Given the description of an element on the screen output the (x, y) to click on. 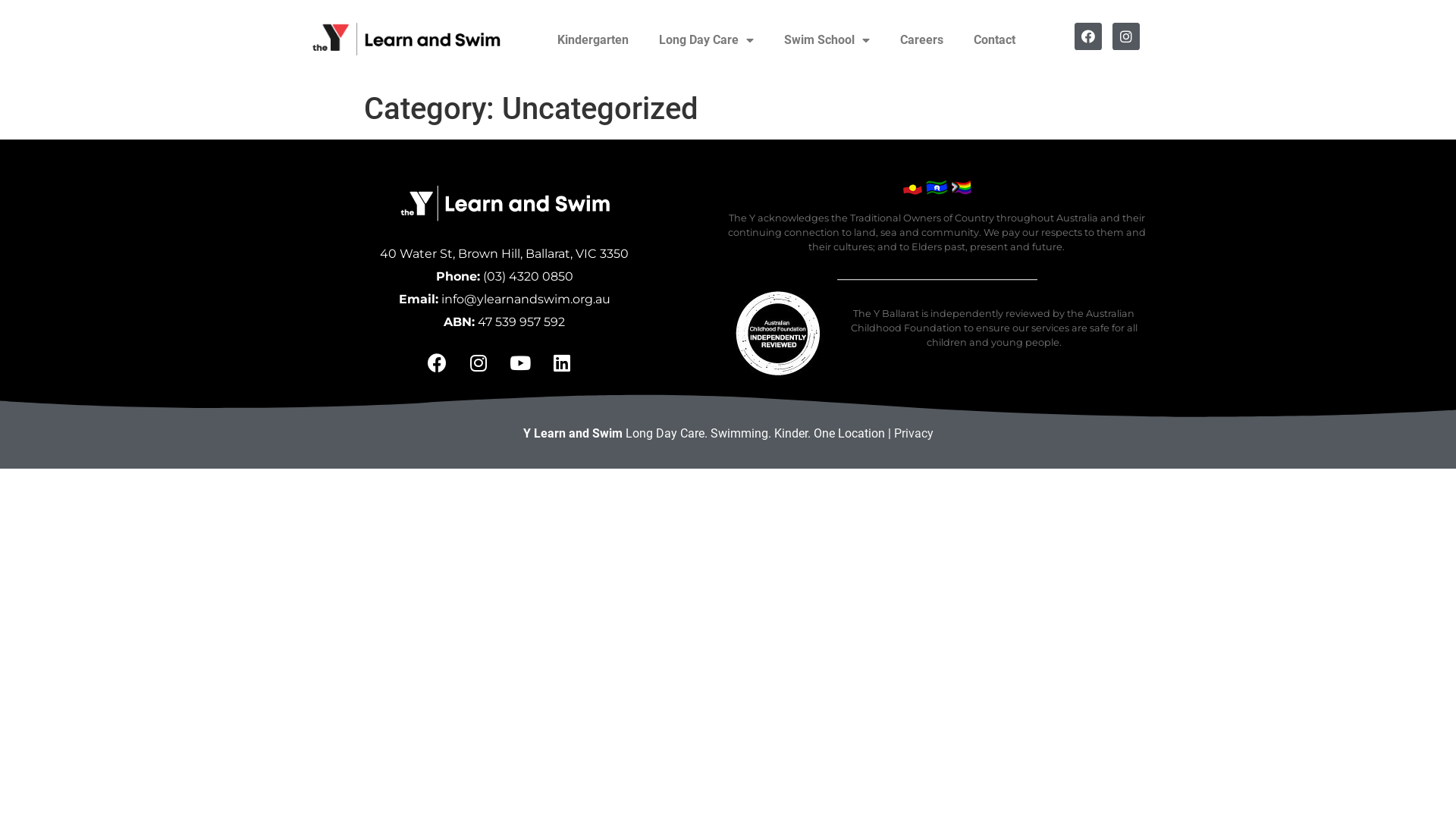
Contact Element type: text (994, 39)
Long Day Care Element type: text (705, 39)
Privacy Element type: text (912, 433)
Careers Element type: text (921, 39)
Kindergarten Element type: text (592, 39)
Swim School Element type: text (826, 39)
